Given the description of an element on the screen output the (x, y) to click on. 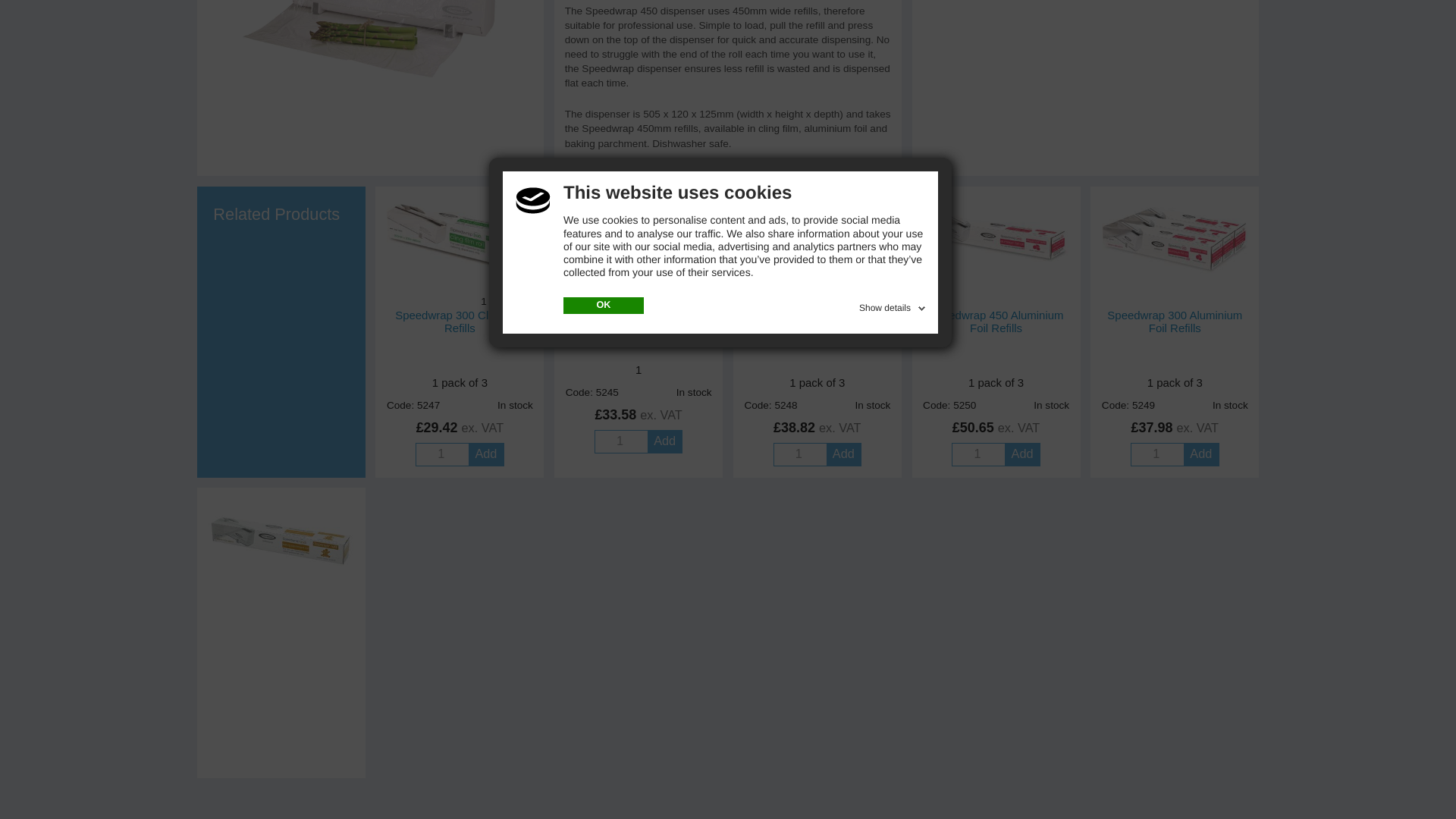
Show details (893, 31)
OK (603, 31)
1 (799, 454)
1 (440, 454)
1 (976, 454)
1 (620, 441)
1 (1155, 454)
